Given the description of an element on the screen output the (x, y) to click on. 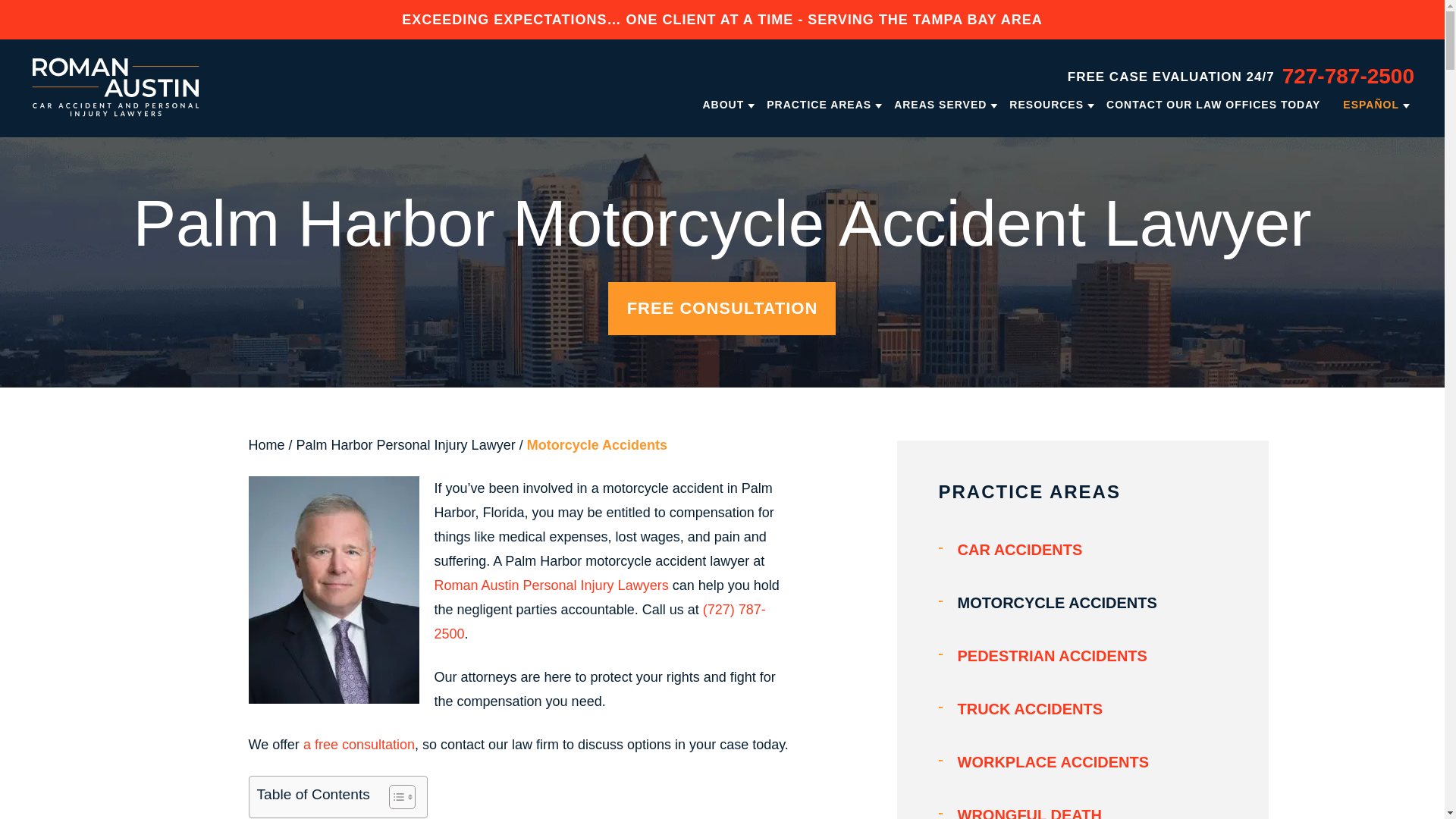
ABOUT (722, 104)
CONTACT OUR LAW OFFICES TODAY (1213, 104)
727-787-2500 (1347, 76)
FREE CONSULTATION (721, 307)
PRACTICE AREAS (818, 104)
RESOURCES (1046, 104)
AREAS SERVED (940, 104)
